Given the description of an element on the screen output the (x, y) to click on. 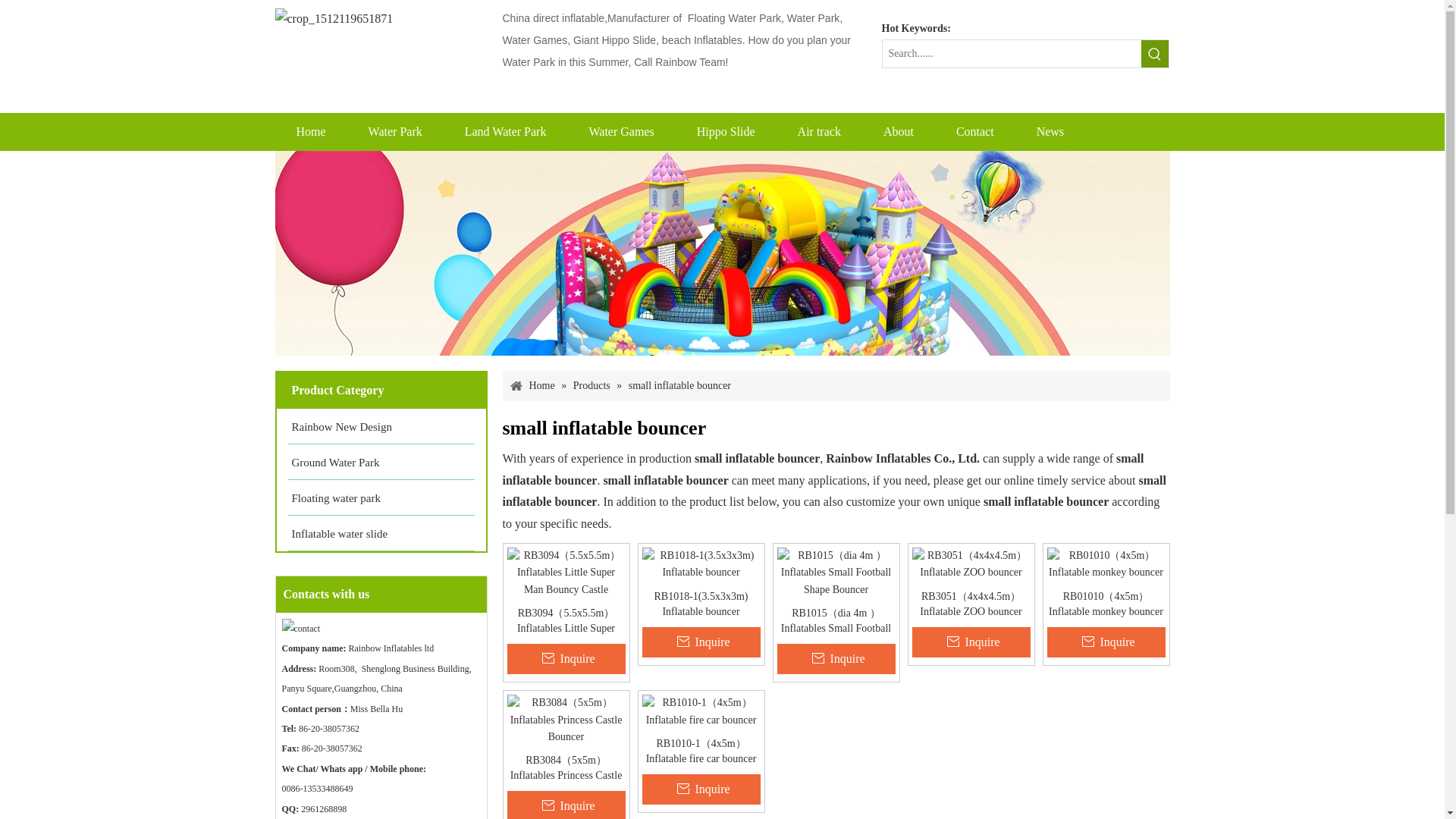
Products (592, 385)
Contact (974, 131)
Air track (818, 131)
Water Games (621, 131)
Inquire (1105, 642)
News (1049, 131)
Floating water park (380, 497)
Rainbow New Design (380, 426)
Inflatable water slide (380, 533)
Floating water park (380, 497)
Ground Water Park (380, 461)
Inquire (970, 642)
Hippo Slide (725, 131)
Home (543, 385)
contact (301, 628)
